Given the description of an element on the screen output the (x, y) to click on. 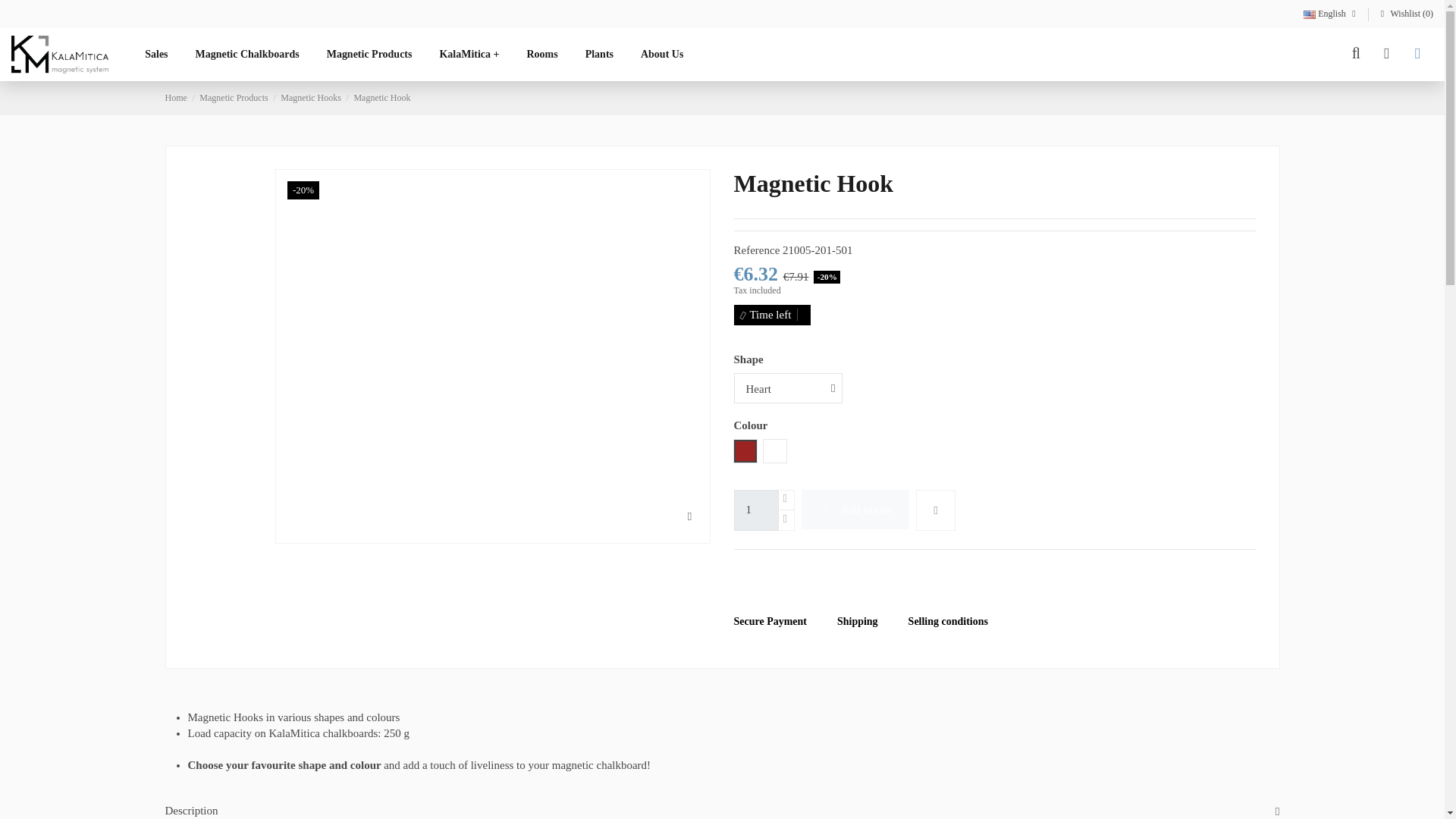
English (1331, 13)
Magnetic Products (369, 54)
Log in to your customer account (1386, 54)
Rooms (541, 54)
Magnetic Chalkboards (247, 54)
Sales (155, 54)
1 (755, 510)
